Given the description of an element on the screen output the (x, y) to click on. 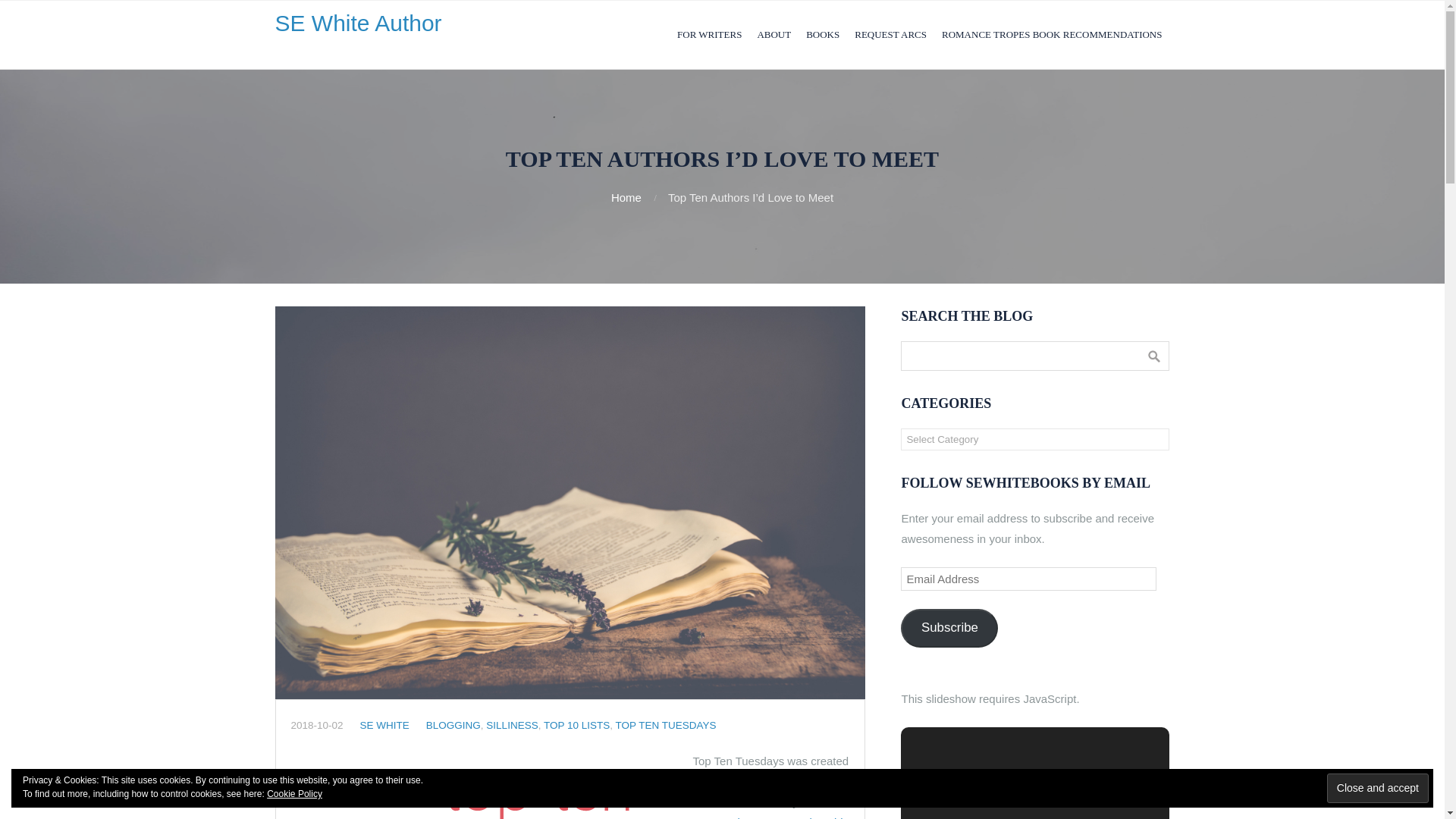
SILLINESS (511, 725)
ABOUT (773, 34)
BLOGGING (453, 725)
TOP 10 LISTS (576, 725)
The Broke and the Bookish (747, 791)
REQUEST ARCS (890, 34)
SE White Author (358, 23)
FOR WRITERS (709, 34)
That Artsy Reader Girl (786, 817)
BOOKS (822, 34)
